Given the description of an element on the screen output the (x, y) to click on. 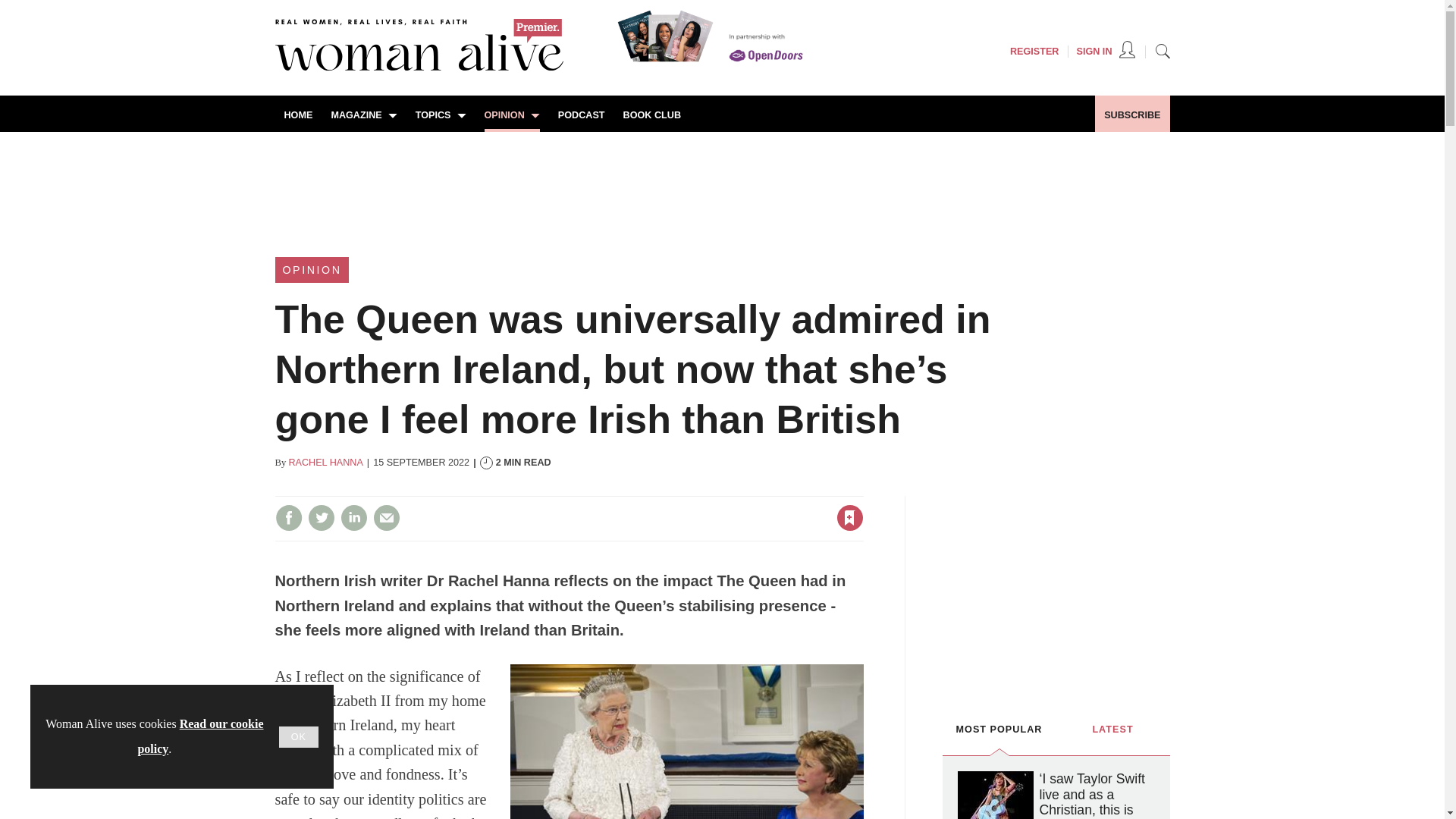
Share this on Facebook (288, 517)
SEARCH (1161, 50)
SIGN IN (1106, 51)
3rd party ad content (1055, 590)
Read our cookie policy (199, 735)
REGISTER (1034, 51)
Share this on Linked in (352, 517)
Site name (418, 66)
Share this on Twitter (320, 517)
Email this article (386, 517)
